Given the description of an element on the screen output the (x, y) to click on. 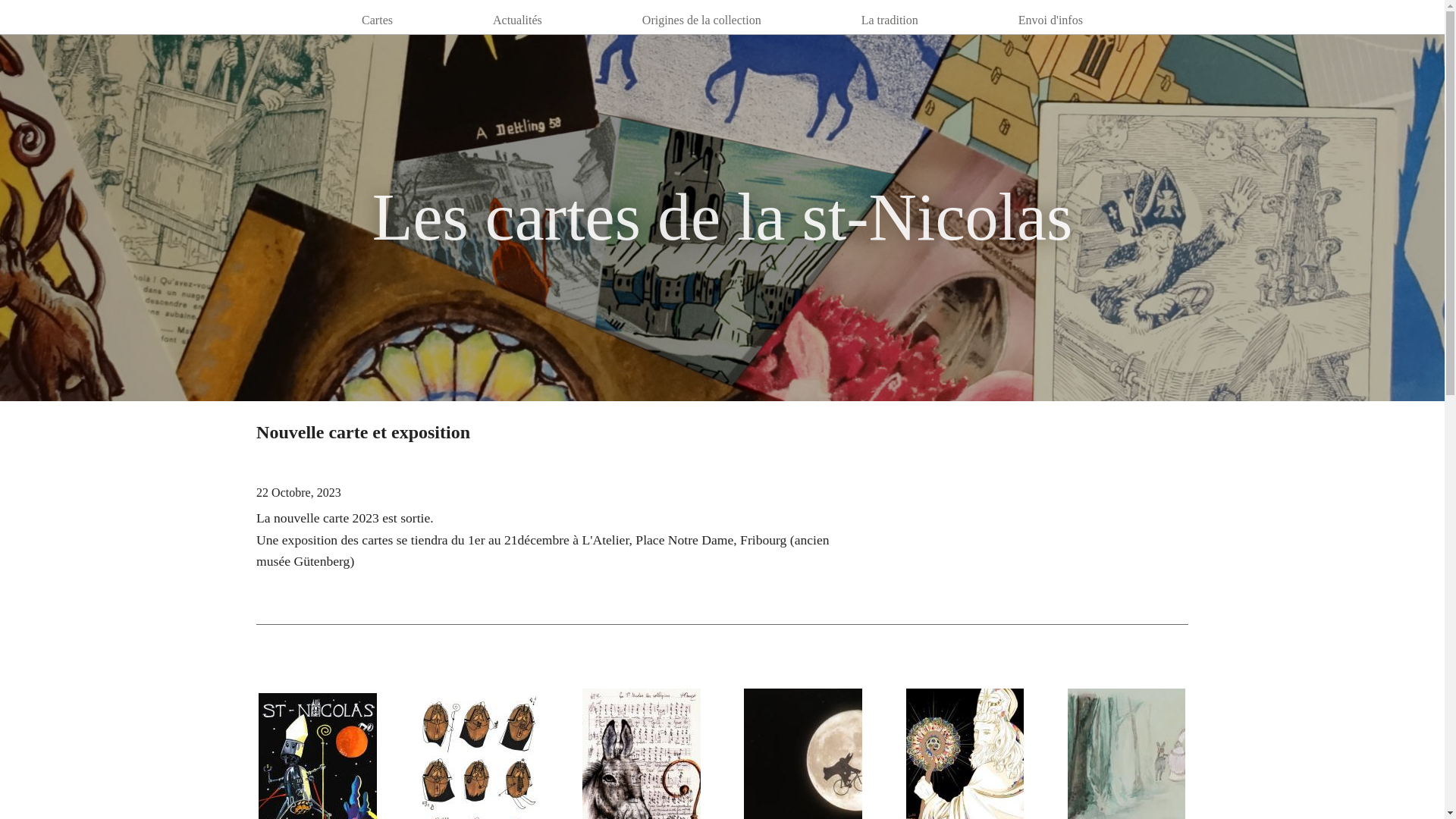
Envoi d'infos Element type: text (1050, 19)
Origines de la collection Element type: text (701, 19)
Les cartes de la st-Nicolas Element type: text (722, 217)
La tradition Element type: text (889, 19)
Cartes Element type: text (376, 19)
